Given the description of an element on the screen output the (x, y) to click on. 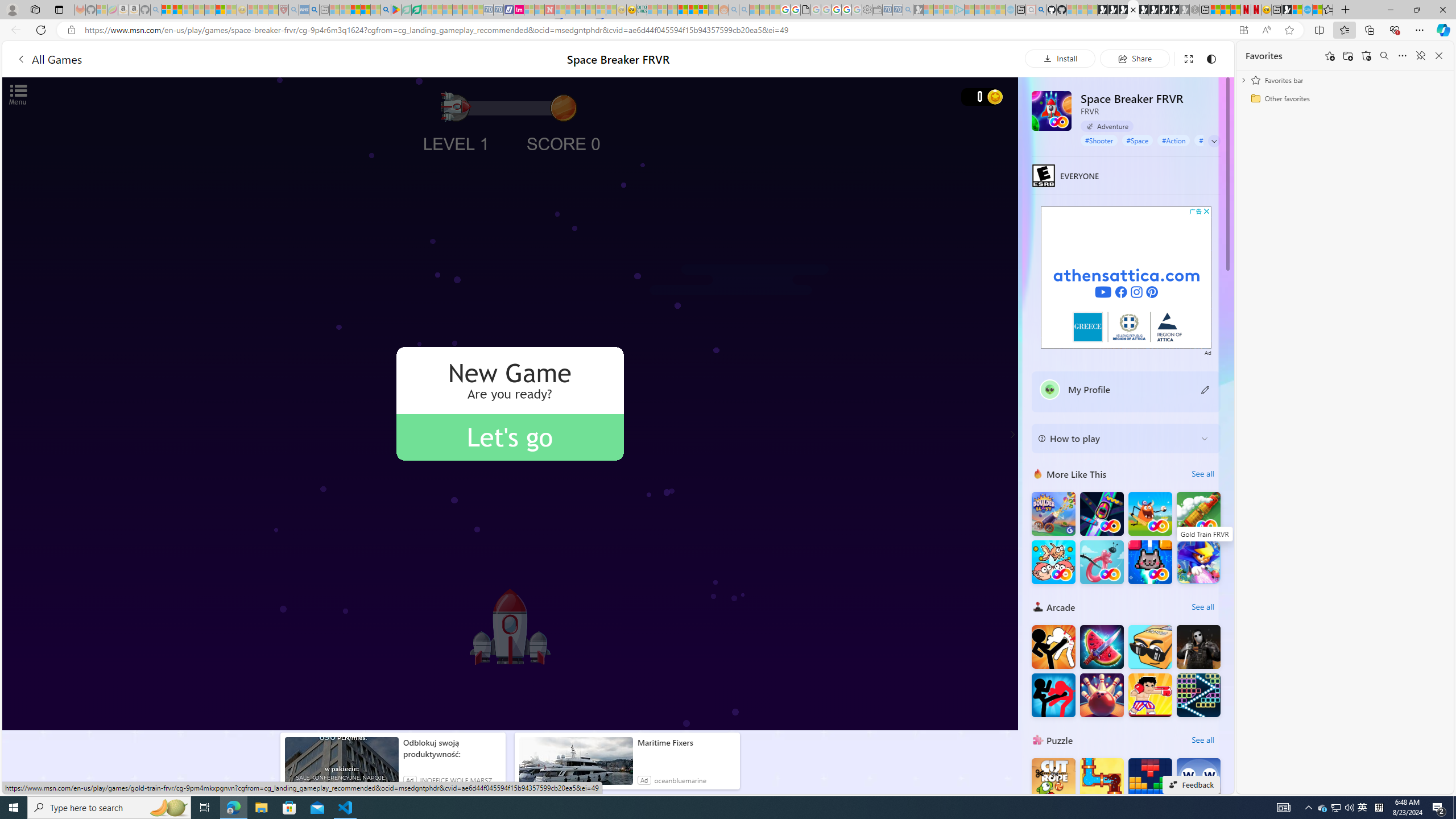
Boulder Blast (1053, 513)
Plumber World (1101, 779)
Terms of Use Agreement - Sleeping (406, 9)
Hunter Hitman (1198, 646)
Wallet - Sleeping (876, 9)
Microsoft Start Gaming - Sleeping (918, 9)
github - Search (1040, 9)
Recipes - MSN - Sleeping (252, 9)
Microsoft-Report a Concern to Bing - Sleeping (101, 9)
